Given the description of an element on the screen output the (x, y) to click on. 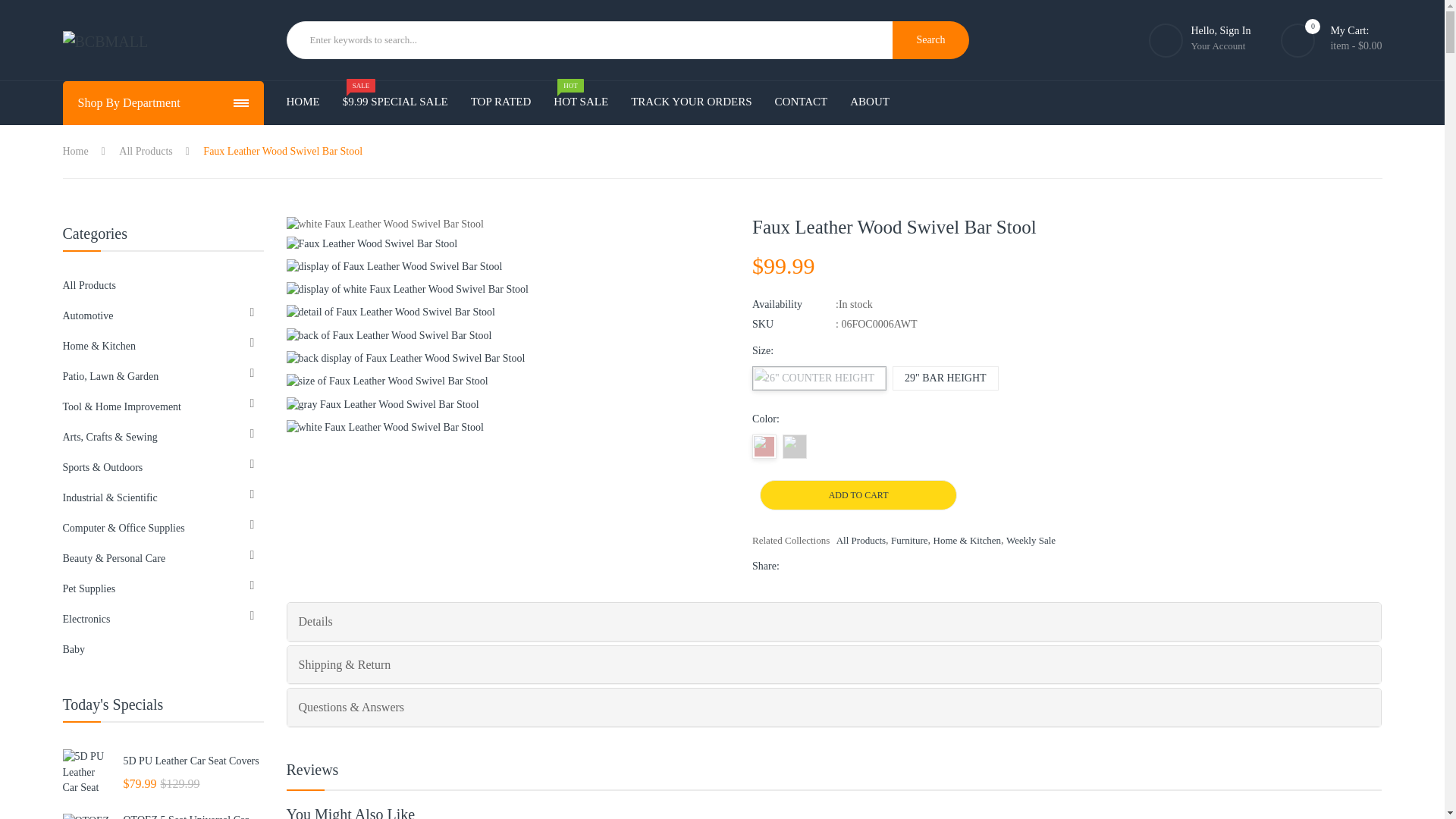
Your Account (1217, 45)
Your Account (1217, 45)
Search (930, 39)
BCBMALL (115, 39)
